Given the description of an element on the screen output the (x, y) to click on. 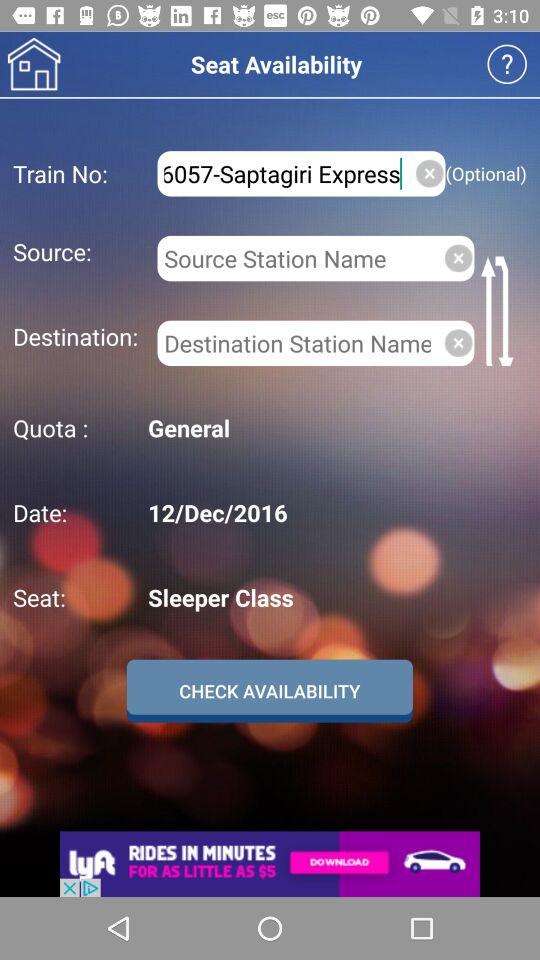
enter destination station (296, 343)
